Given the description of an element on the screen output the (x, y) to click on. 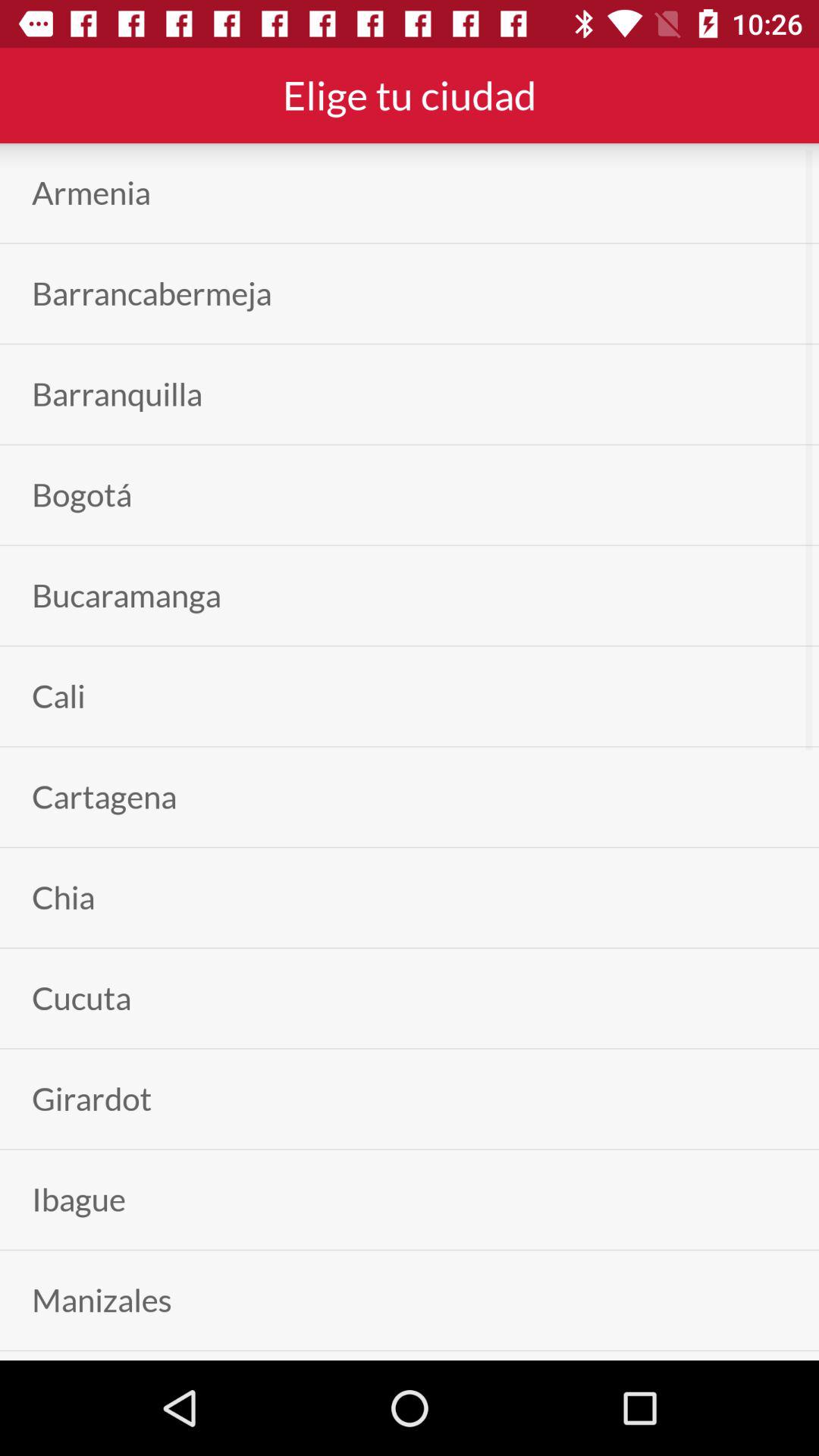
scroll until barrancabermeja item (151, 293)
